Given the description of an element on the screen output the (x, y) to click on. 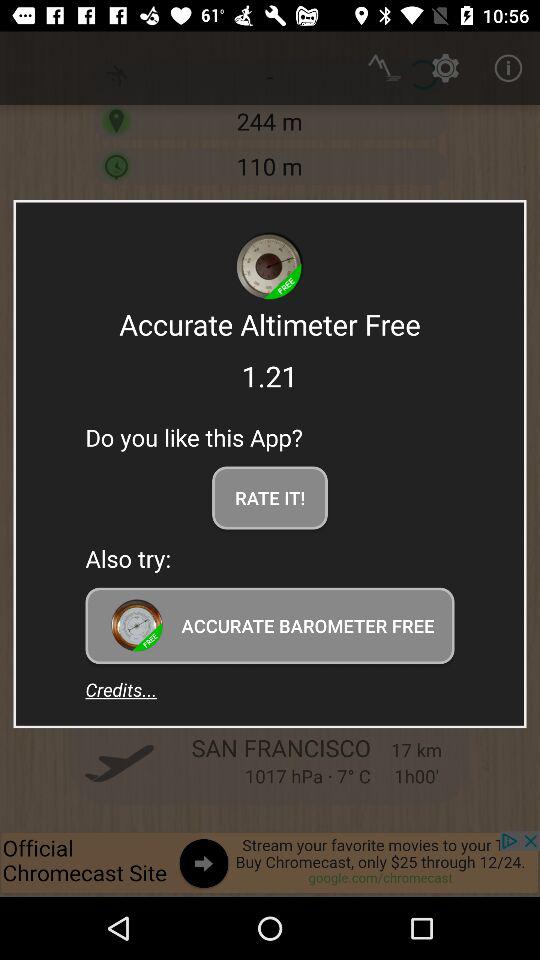
select button below accurate barometer free icon (121, 689)
